Given the description of an element on the screen output the (x, y) to click on. 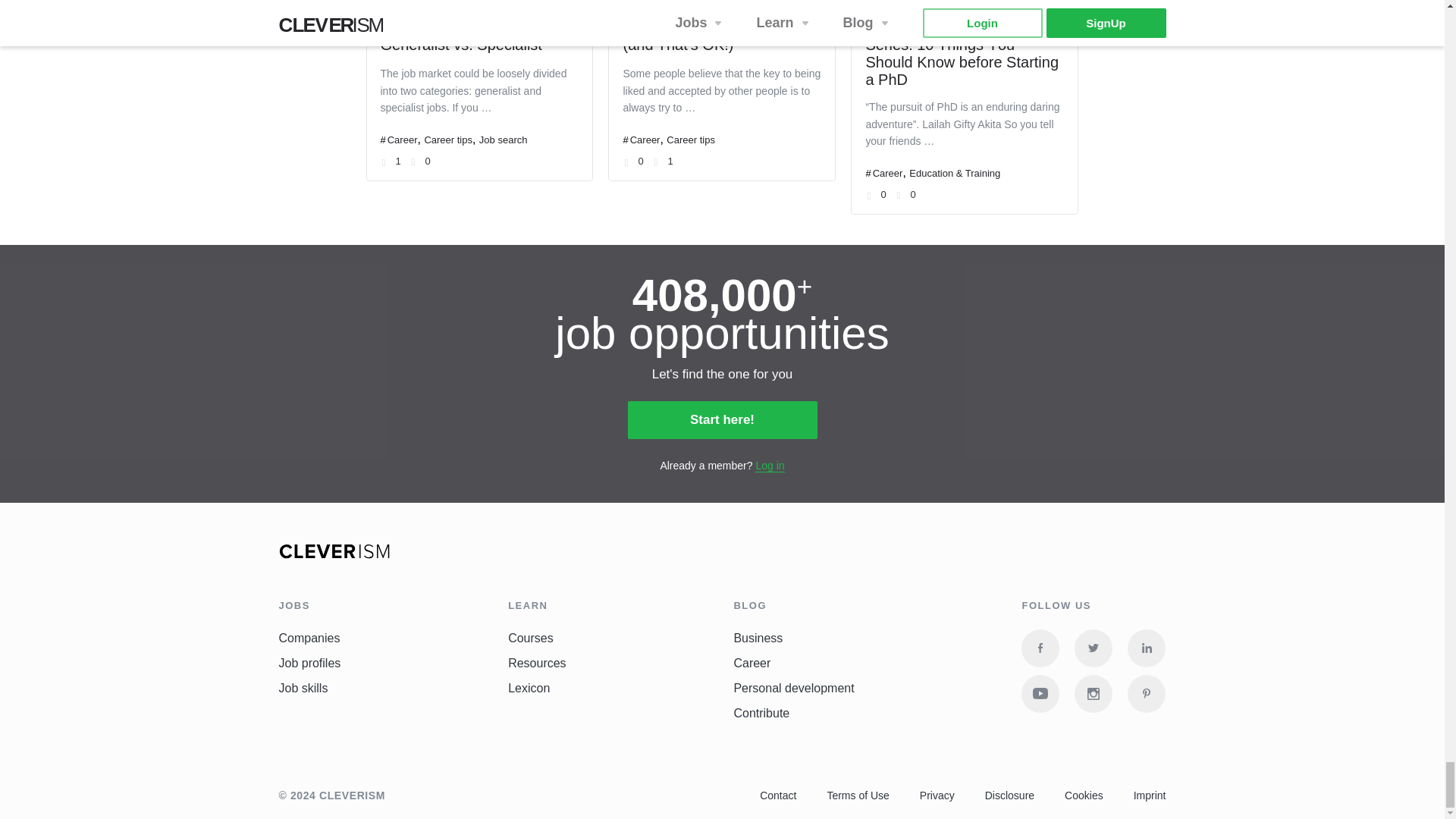
Career (402, 139)
Career tips (447, 139)
Career (645, 139)
Job search (503, 139)
The Ultimate Career Choice: Generalist vs. Specialist (476, 35)
